Given the description of an element on the screen output the (x, y) to click on. 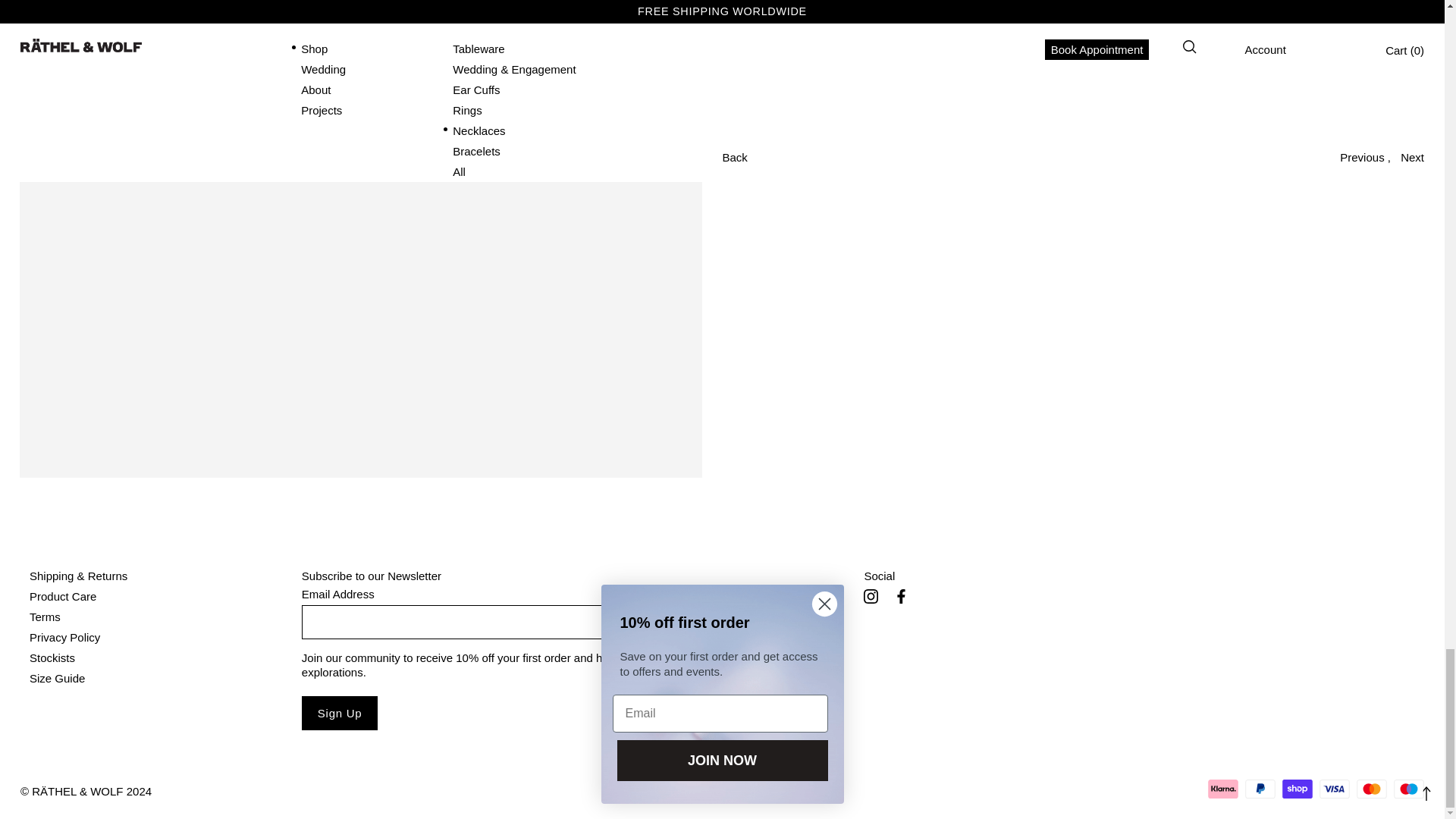
Instagram (870, 595)
Instagram (870, 595)
Facebook (900, 595)
